Given the description of an element on the screen output the (x, y) to click on. 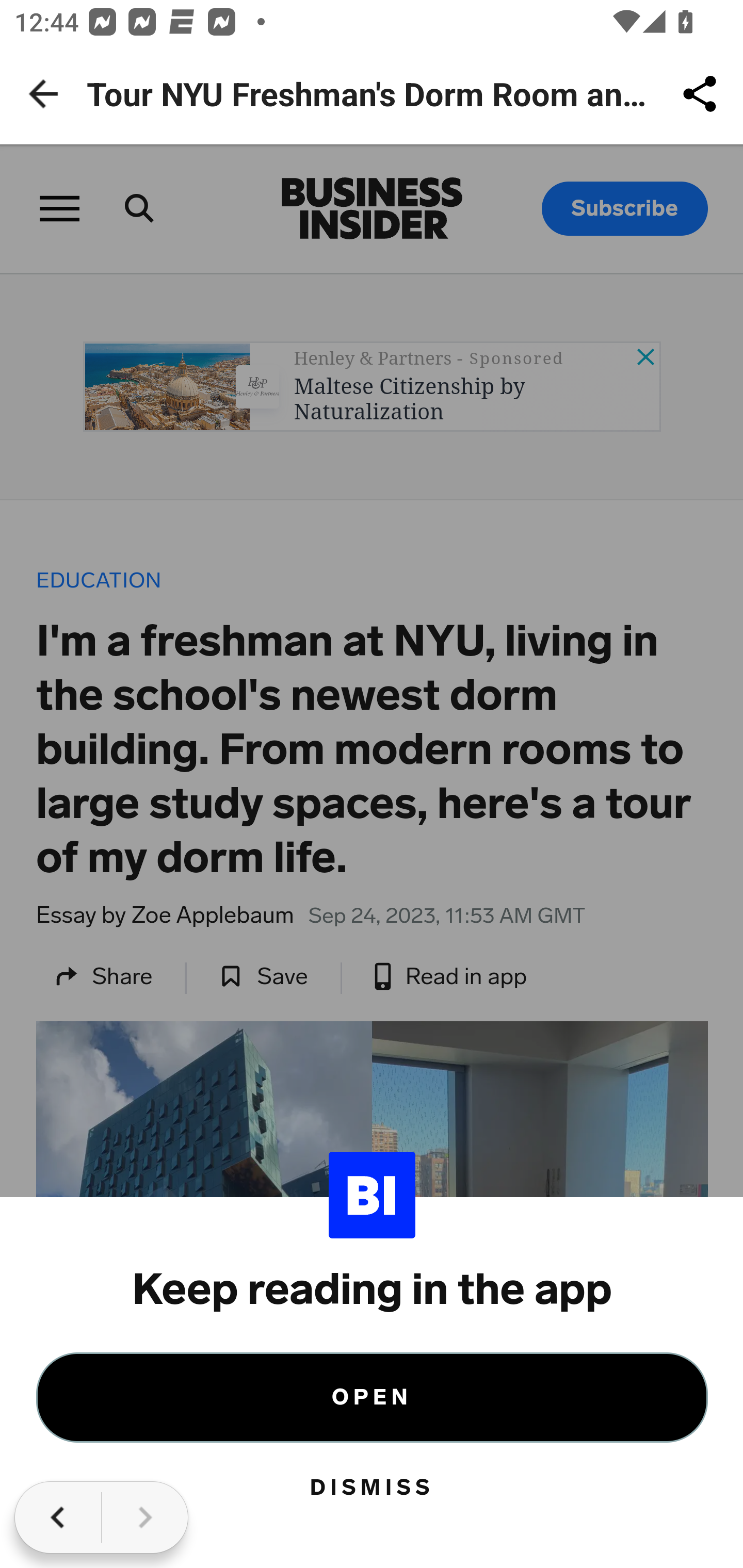
OPEN (372, 1397)
DISMISS (372, 1487)
